Given the description of an element on the screen output the (x, y) to click on. 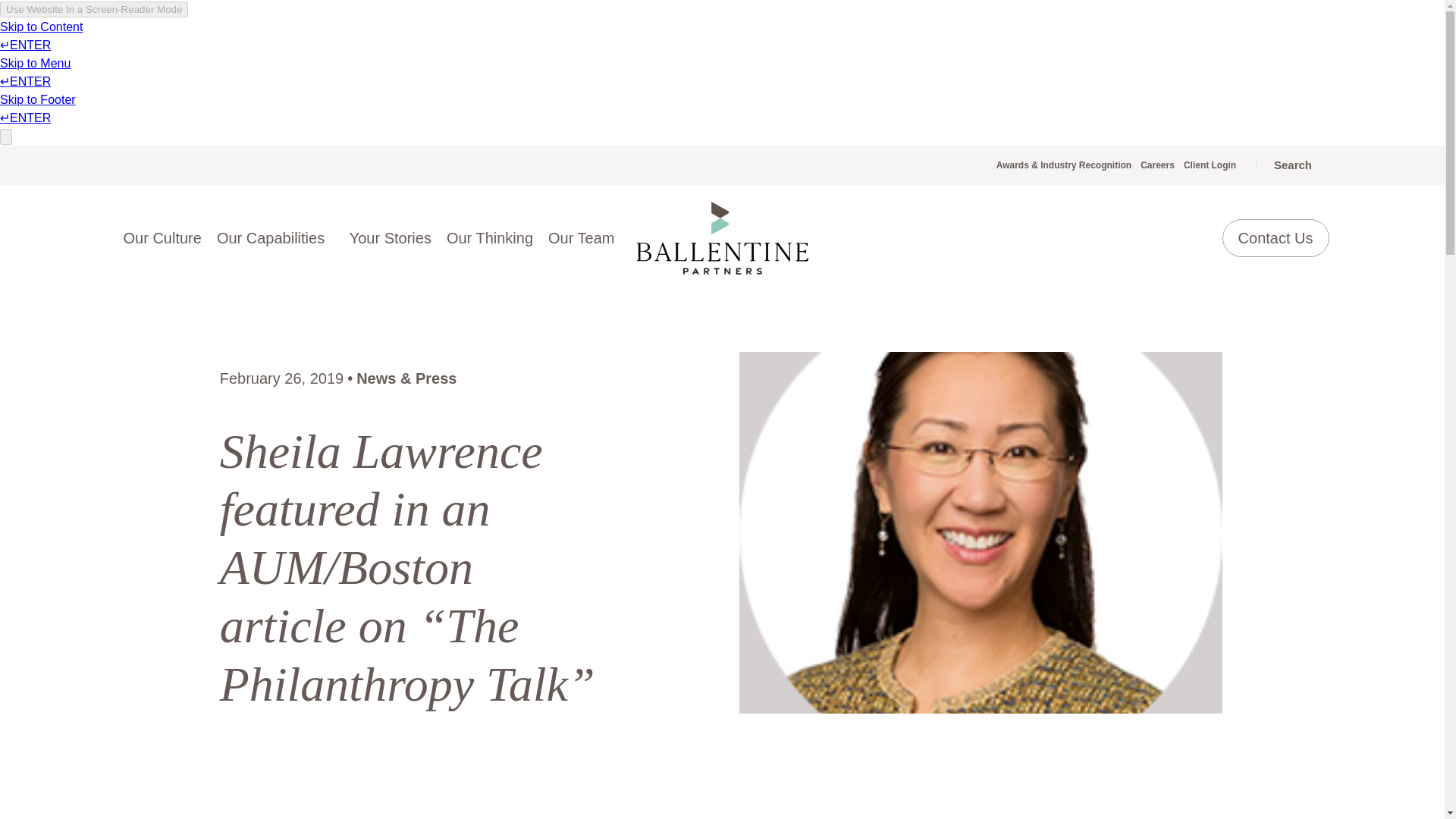
Our Culture (161, 236)
Careers (1157, 164)
Client Login (1209, 164)
Our Thinking (489, 236)
Our Capabilities (275, 236)
Search (1281, 164)
Your Stories (390, 236)
Search (1281, 164)
Our Team (580, 236)
Contact Us (1276, 237)
